Given the description of an element on the screen output the (x, y) to click on. 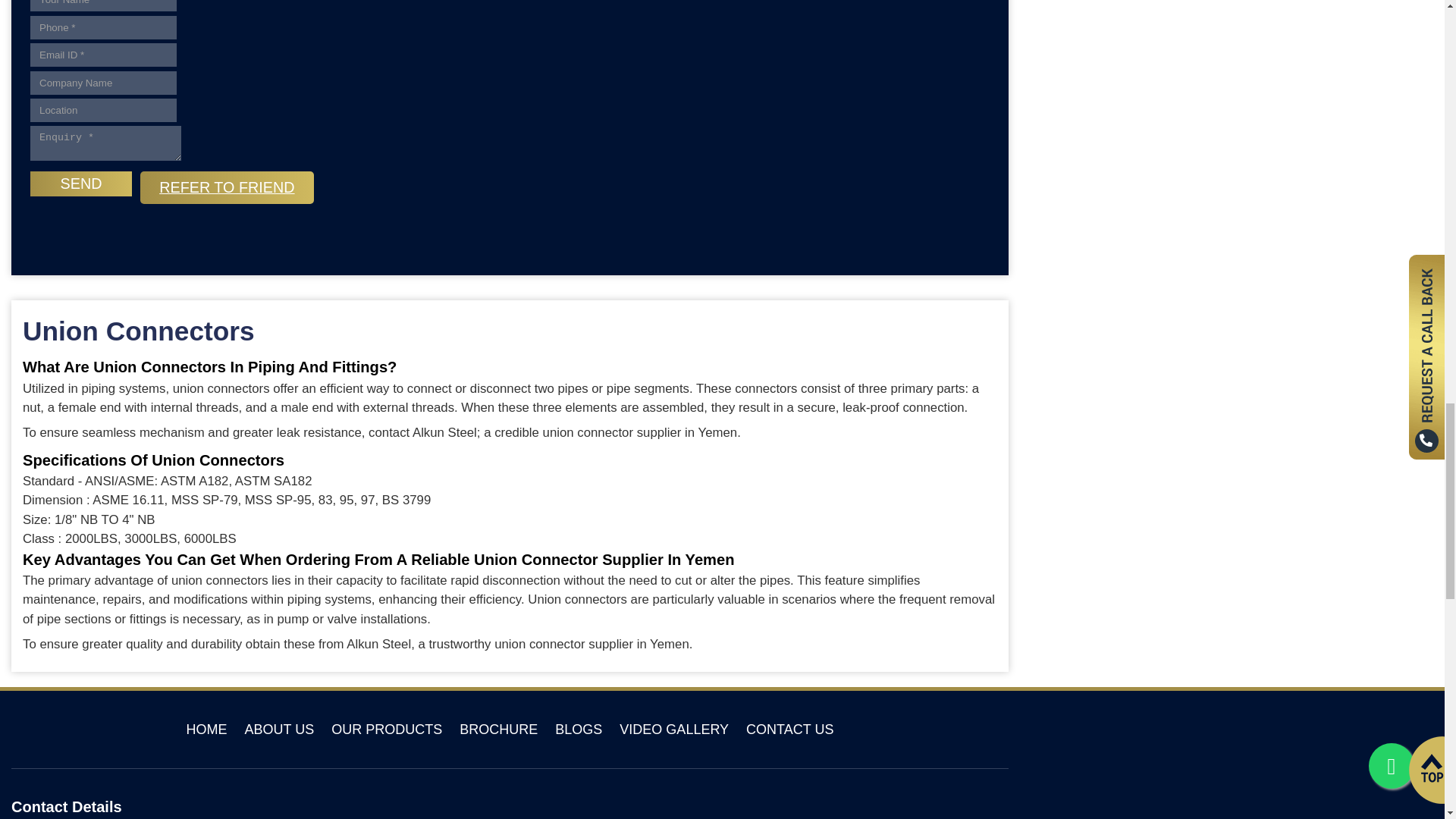
BROCHURE (498, 729)
OUR PRODUCTS (386, 729)
Send (81, 183)
HOME (206, 729)
REFER TO FRIEND (226, 187)
VIDEO GALLERY (674, 729)
Send (81, 183)
CONTACT US (788, 729)
BLOGS (578, 729)
ABOUT US (279, 729)
